Given the description of an element on the screen output the (x, y) to click on. 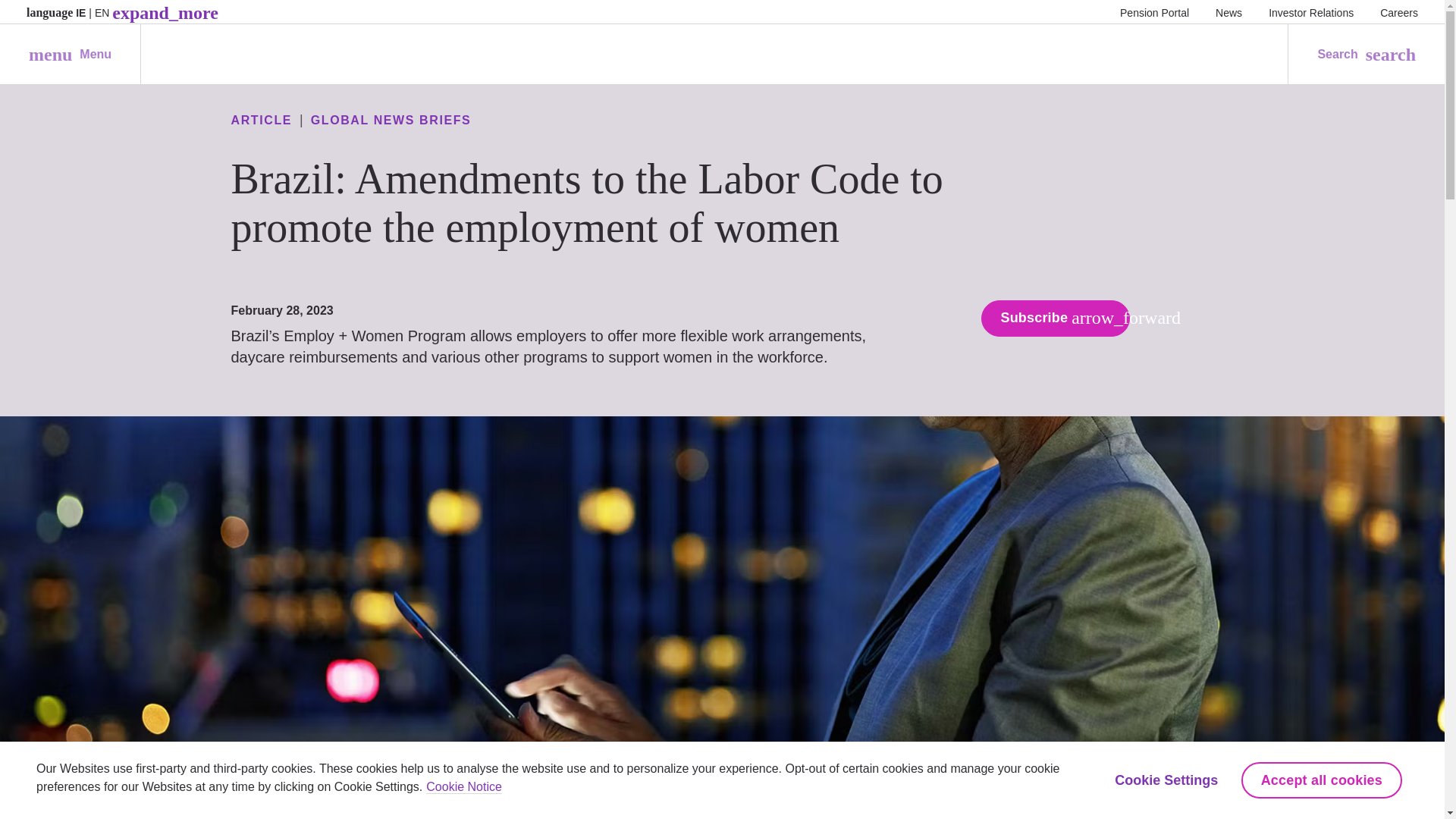
Investor Relations (1311, 12)
Pension Portal (1154, 12)
Careers (1399, 12)
News (1228, 12)
